Given the description of an element on the screen output the (x, y) to click on. 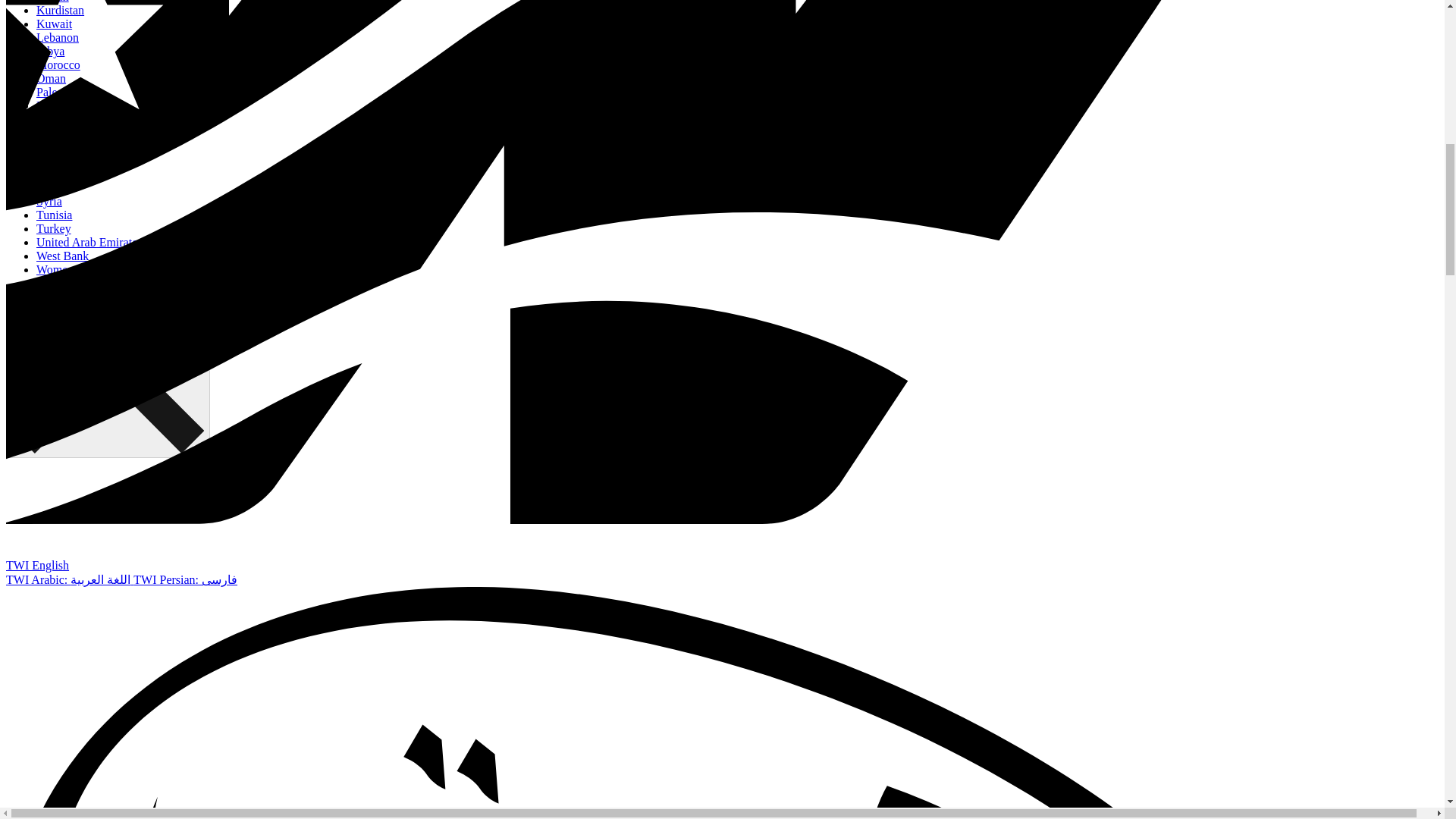
Oman (50, 78)
Lebanon (57, 37)
Parliaments (65, 105)
Jordan (52, 1)
Libya (50, 51)
Morocco (58, 64)
Kurdistan (60, 10)
Kuwait (53, 23)
Palestinians (65, 91)
